Given the description of an element on the screen output the (x, y) to click on. 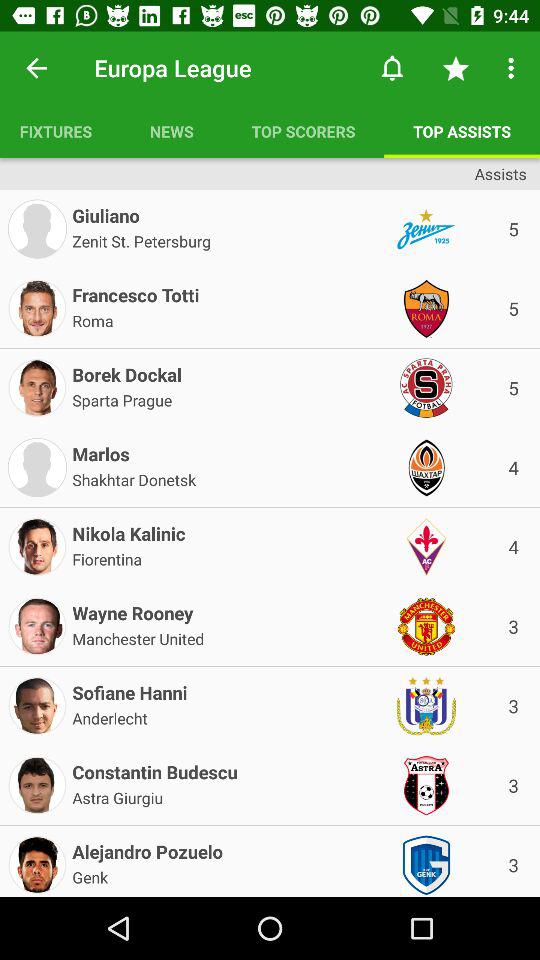
turn off astra giurgiu (117, 796)
